Given the description of an element on the screen output the (x, y) to click on. 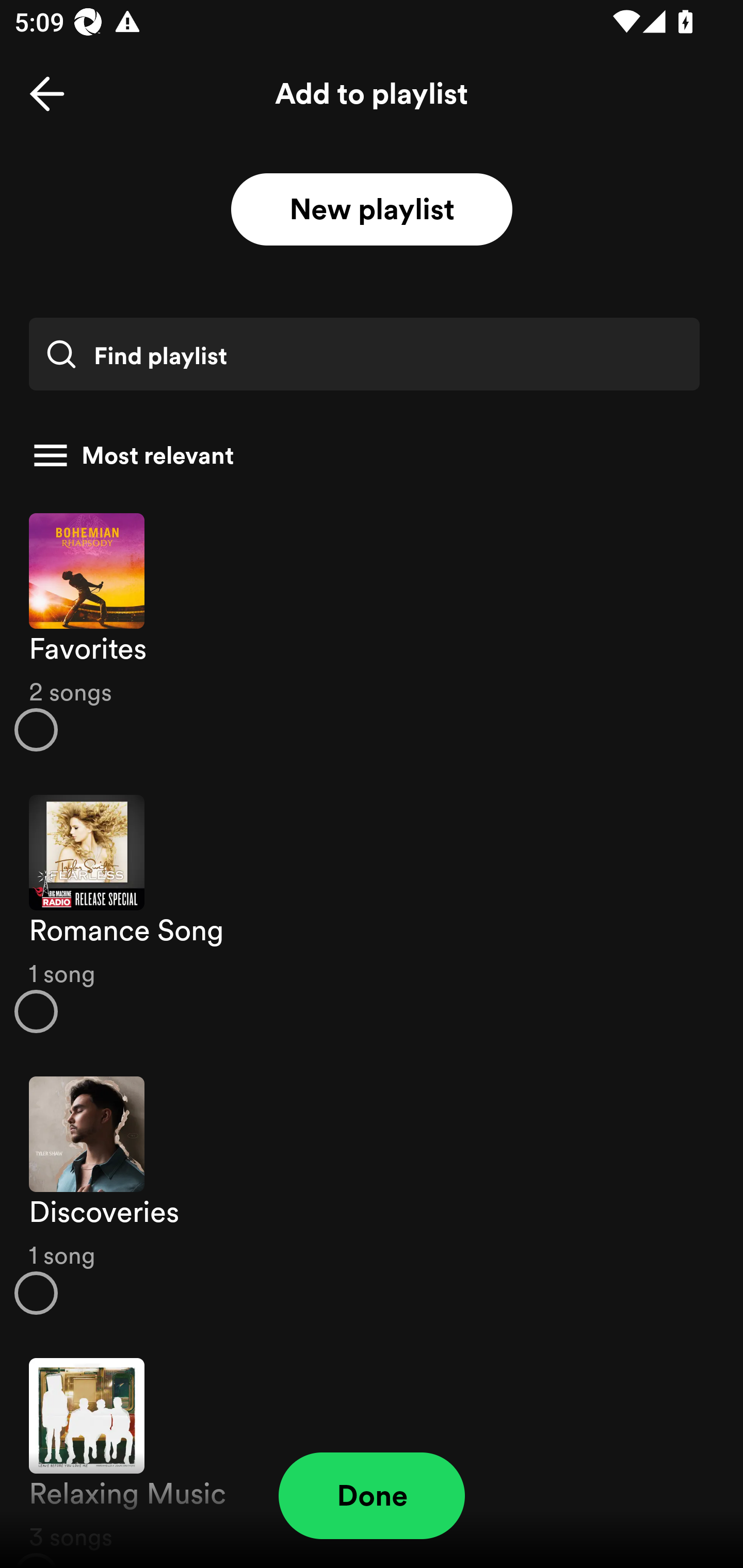
Back (46, 93)
New playlist (371, 210)
Find playlist (363, 354)
Most relevant (363, 455)
Favorites 2 songs (371, 631)
Romance Song 1 song (371, 914)
Discoveries 1 song (371, 1195)
Relaxing Music 3 songs (371, 1451)
Done (371, 1495)
